Given the description of an element on the screen output the (x, y) to click on. 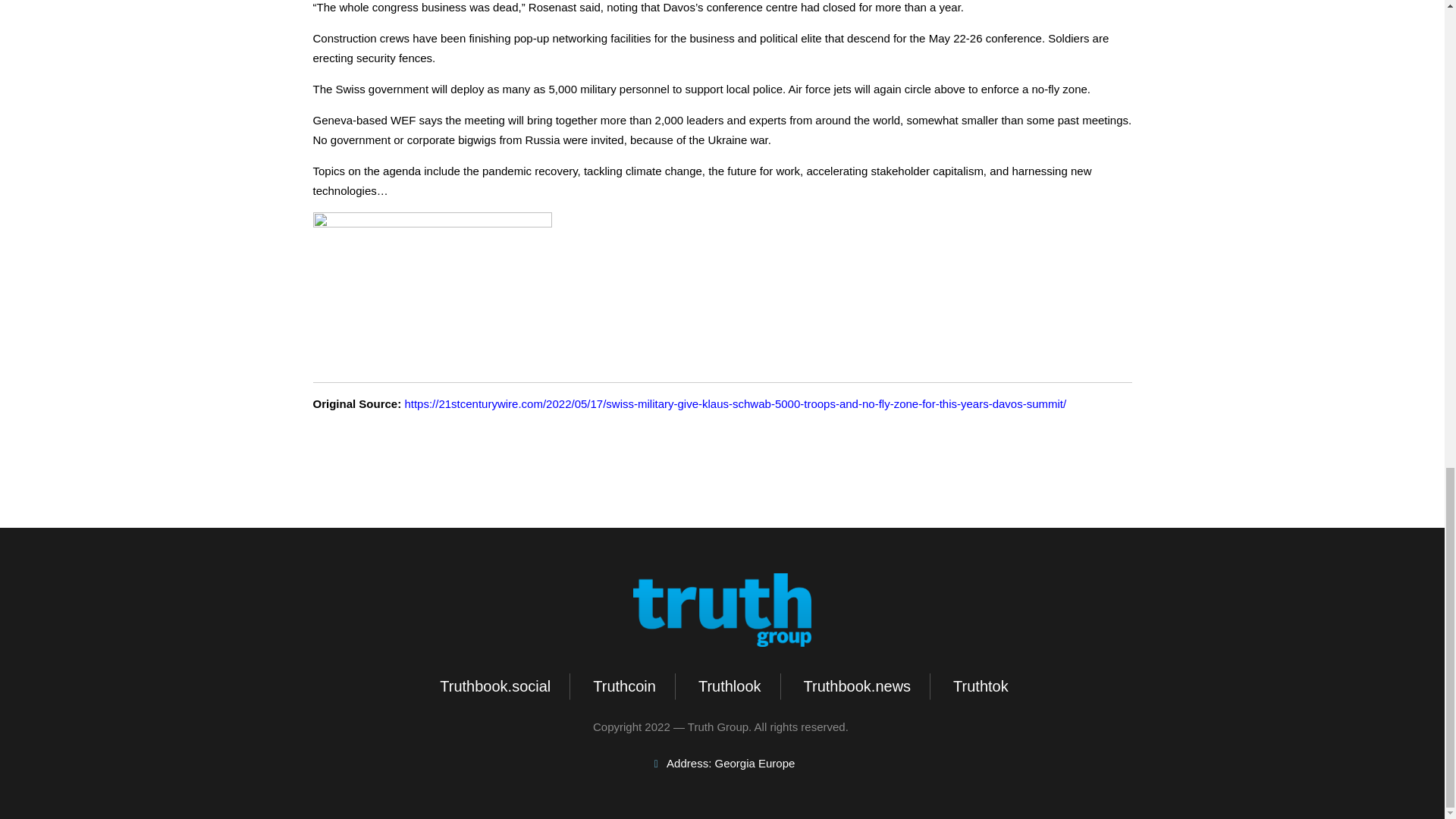
Truthcoin (622, 686)
Truthlook (727, 686)
Truthtok (979, 686)
Truthbook.social (492, 686)
Truthbook.news (855, 686)
